Given the description of an element on the screen output the (x, y) to click on. 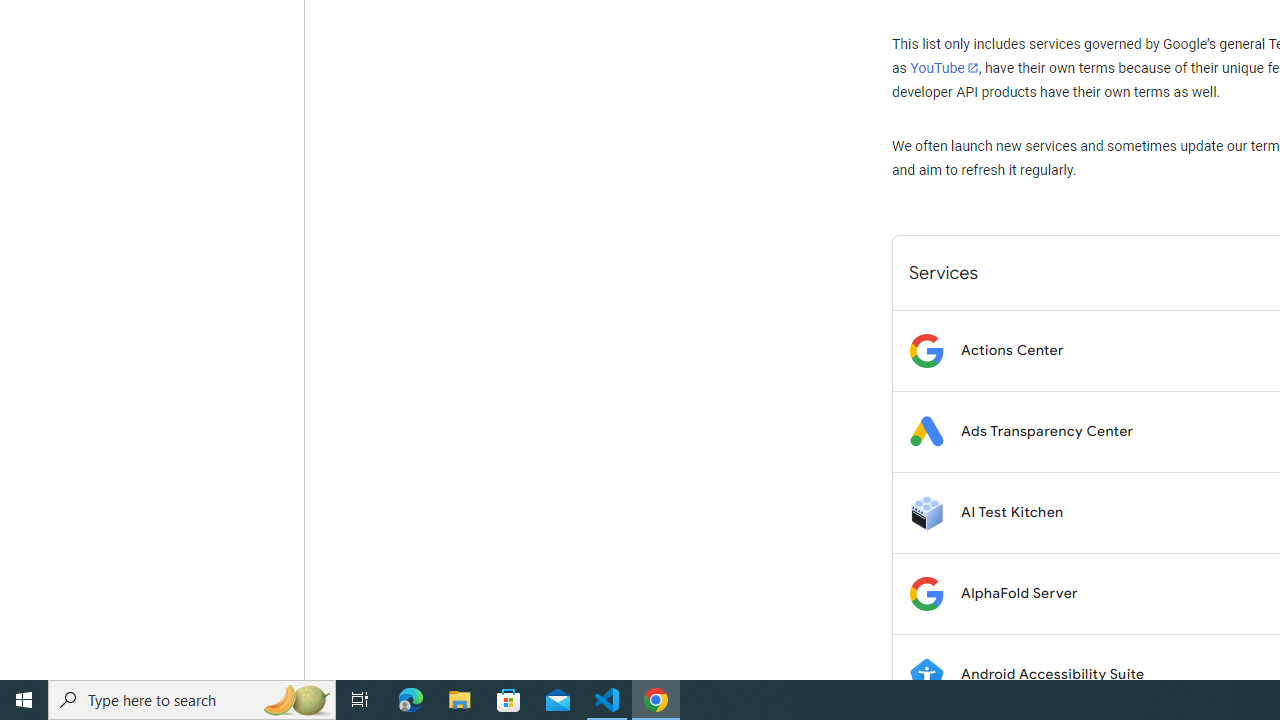
Logo for AlphaFold Server (926, 593)
YouTube (944, 68)
Logo for Ads Transparency Center (926, 431)
Logo for AI Test Kitchen (926, 512)
Logo for Actions Center (926, 349)
Logo for Android Accessibility Suite (926, 673)
